Given the description of an element on the screen output the (x, y) to click on. 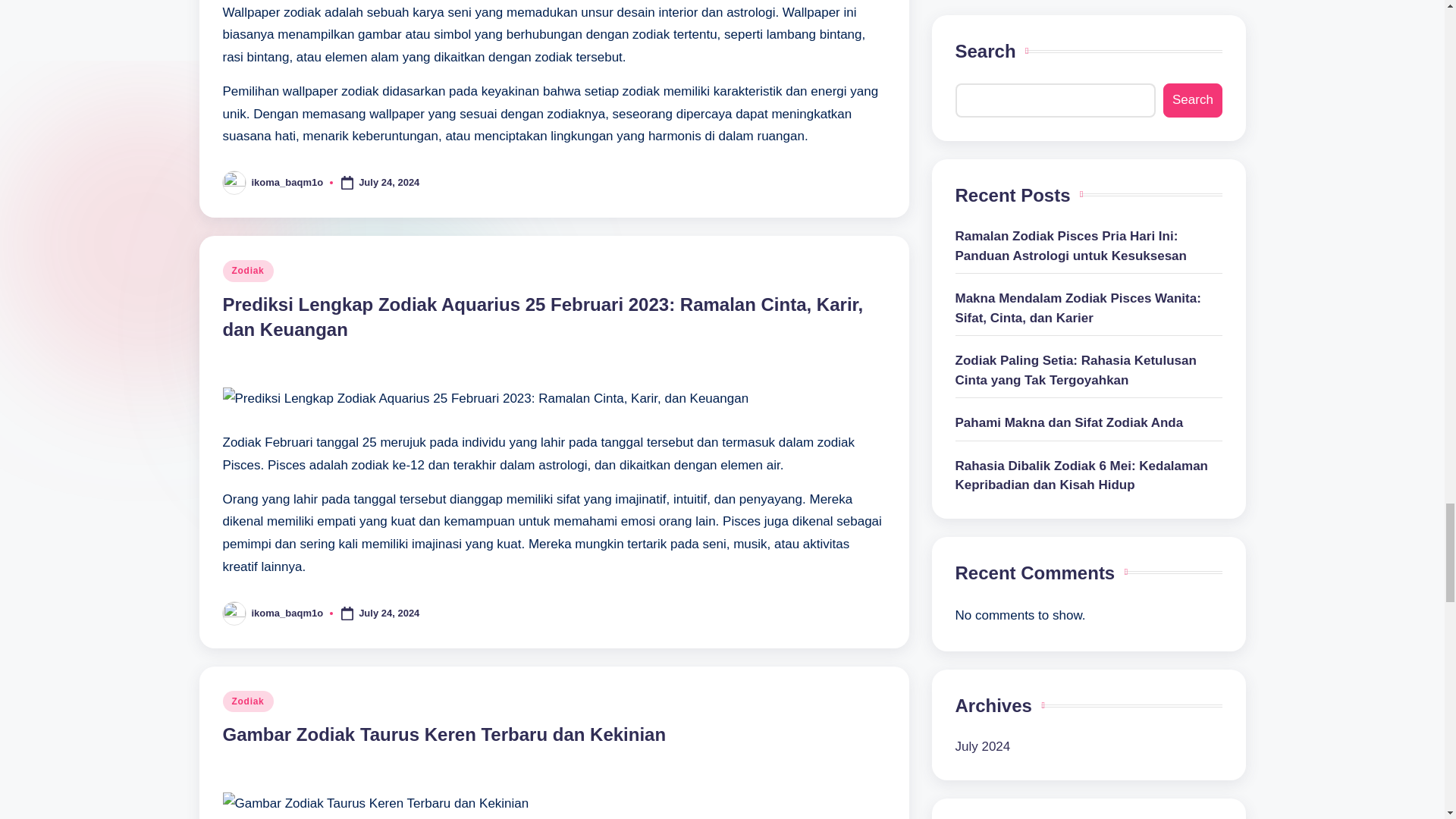
Gambar Zodiak Taurus Keren Terbaru dan Kekinian (444, 733)
